Given the description of an element on the screen output the (x, y) to click on. 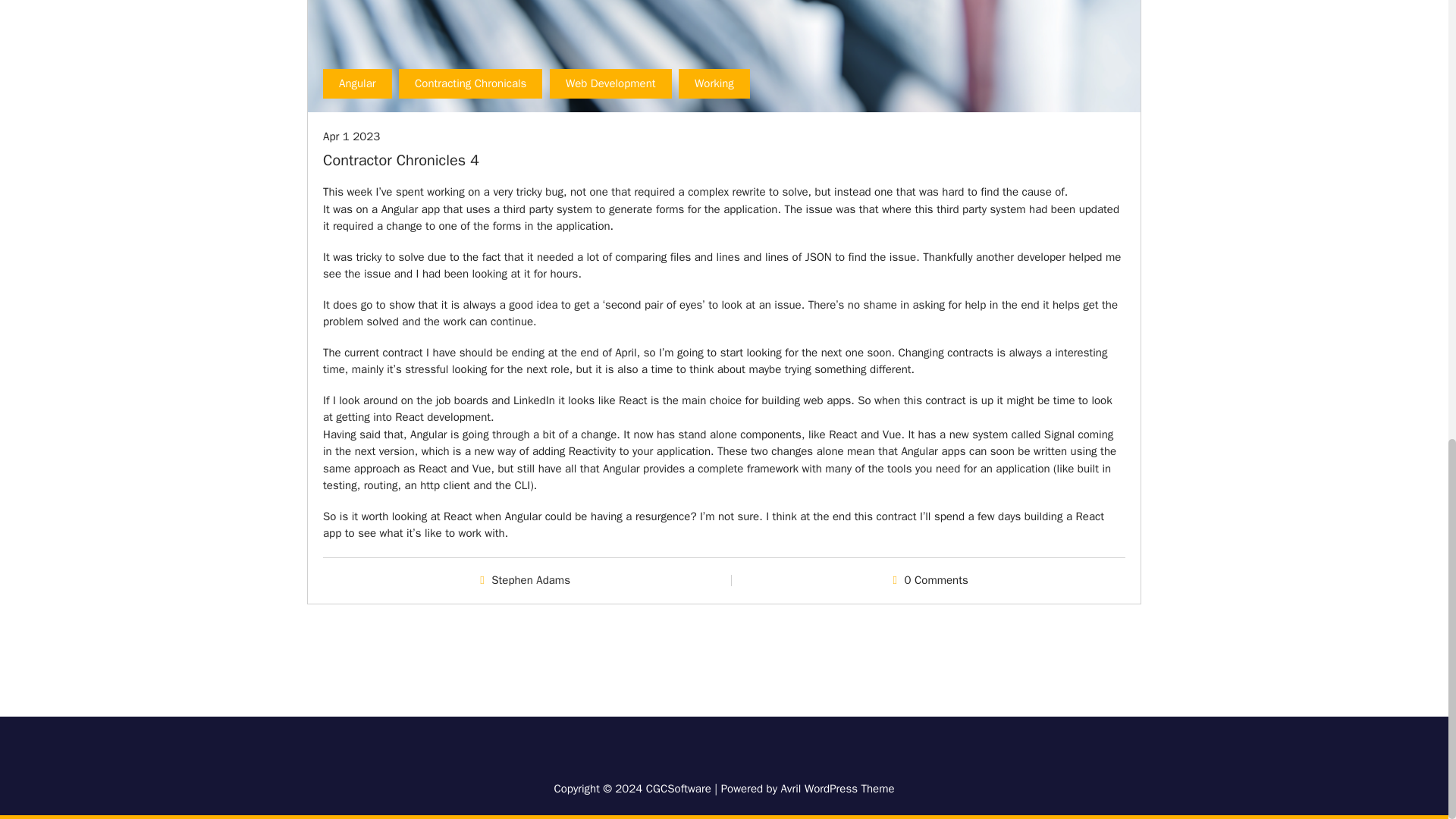
0 Comments (936, 580)
Apr 1 2023 (351, 136)
Contracting Chronicals (469, 83)
Avril WordPress Theme (836, 788)
Angular (357, 83)
Web Development (610, 83)
Working (713, 83)
Stephen Adams (531, 580)
